Given the description of an element on the screen output the (x, y) to click on. 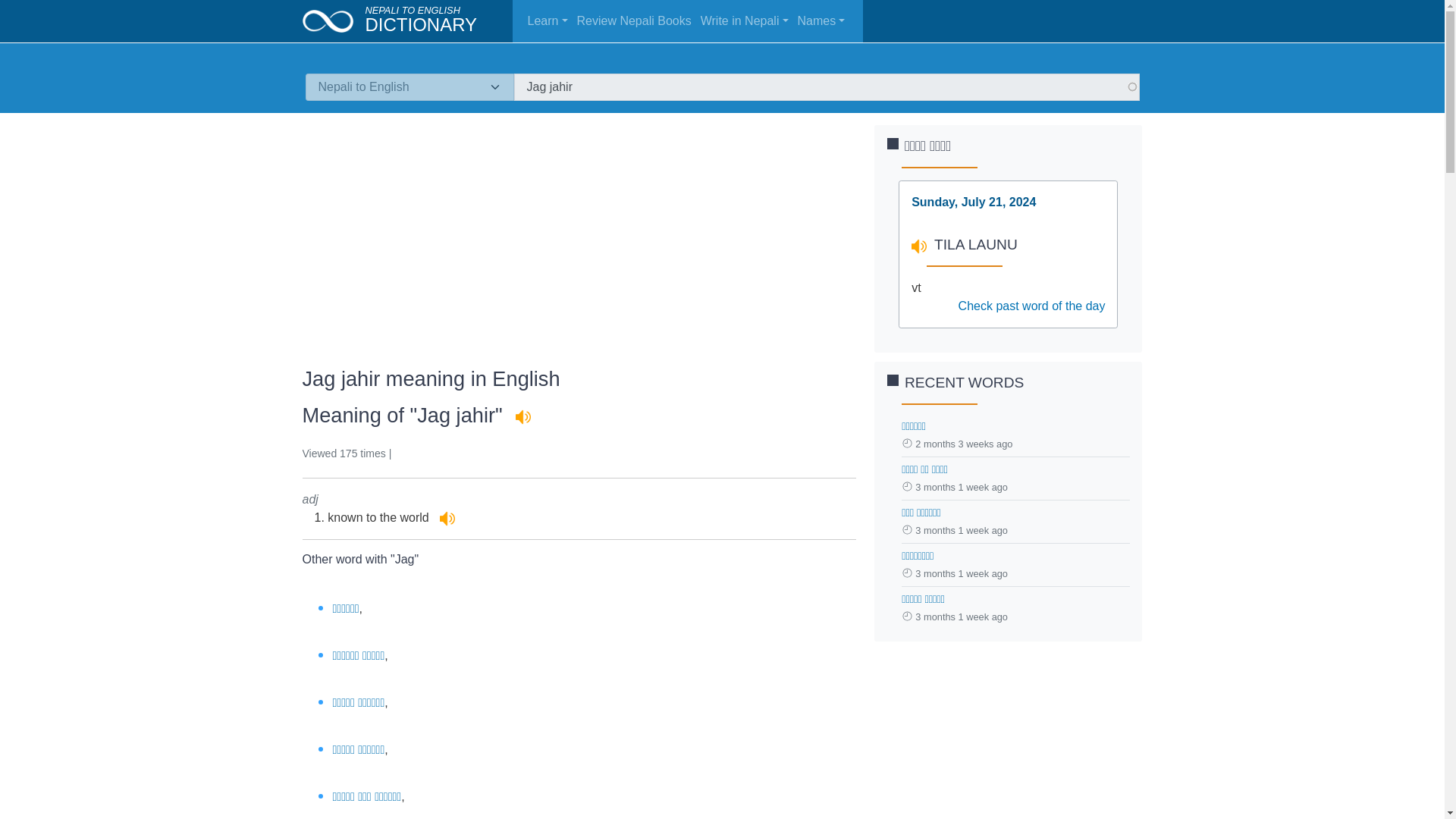
Jag jahir (826, 86)
Enter the terms you wish to search for. (826, 86)
Dictionary (412, 9)
Advertisement (578, 231)
NEPALI TO ENGLISH (412, 9)
DICTIONARY (421, 24)
Learn (548, 20)
Names (822, 20)
Jag jahir (826, 86)
Dictionary (421, 24)
Dictionary (333, 19)
Write in Nepali (745, 20)
Review Nepali Books (635, 20)
